Given the description of an element on the screen output the (x, y) to click on. 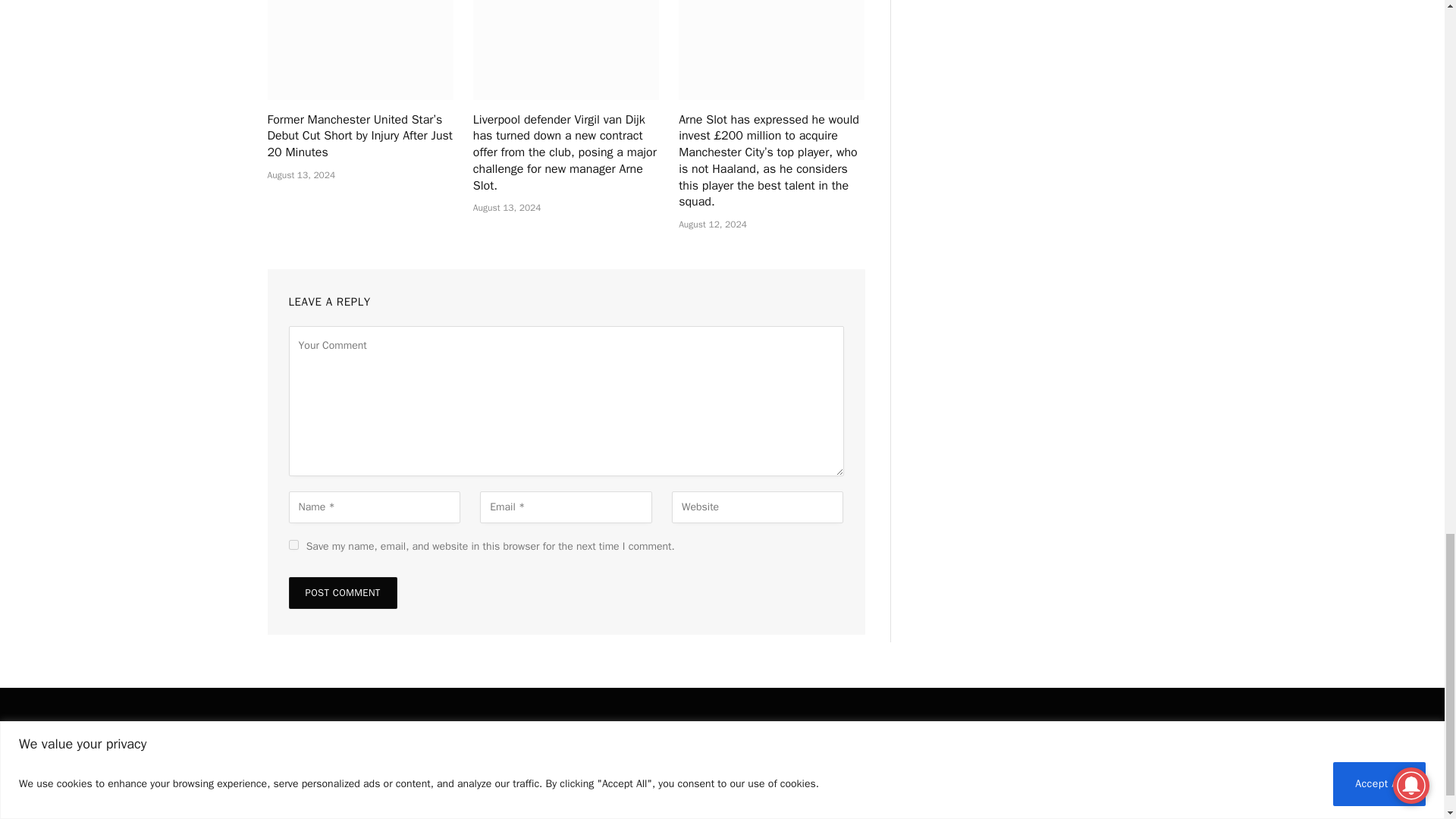
yes (293, 544)
Post Comment (342, 593)
